Given the description of an element on the screen output the (x, y) to click on. 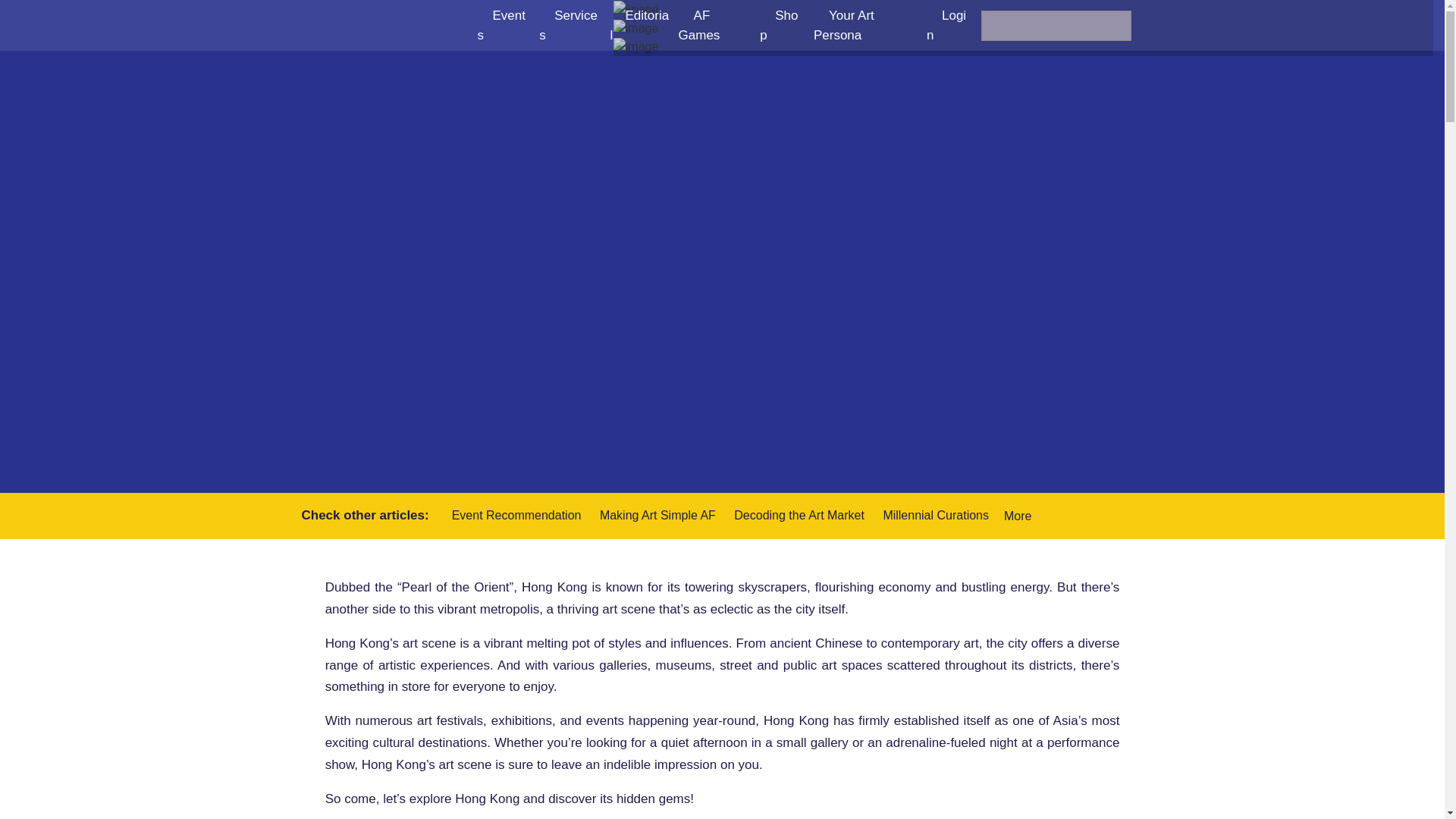
Search (19, 9)
AF Games (706, 28)
Editorial (639, 28)
Services (567, 28)
Event Recommendation (518, 514)
Your Art Persona (844, 28)
Making Art Simple AF (659, 514)
